Given the description of an element on the screen output the (x, y) to click on. 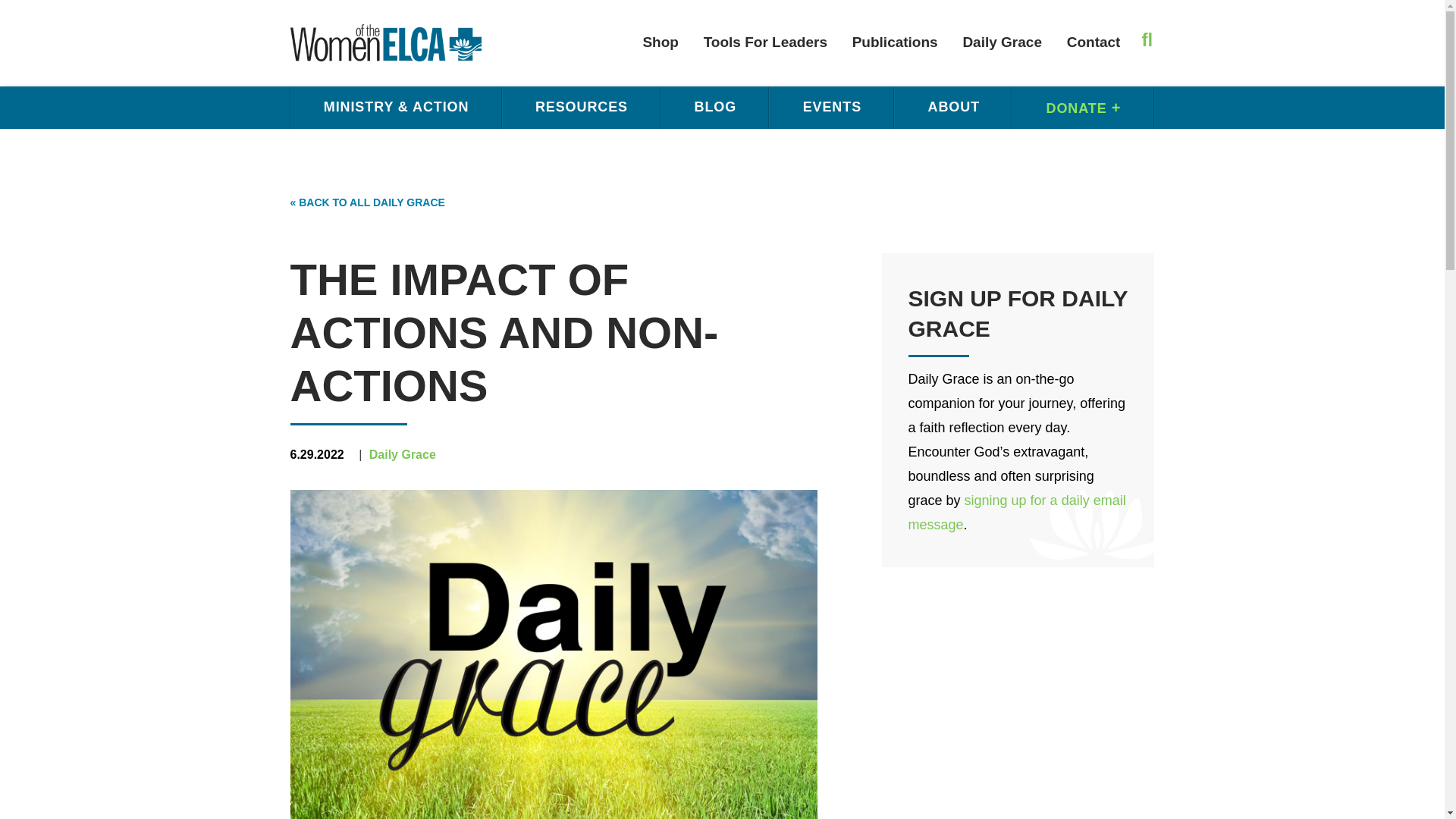
Publications (895, 42)
Daily Grace (1002, 42)
RESOURCES (581, 106)
EVENTS (831, 106)
ABOUT (953, 106)
Shop (659, 42)
Tools For Leaders (765, 42)
BLOG (714, 106)
Contact (1094, 42)
OPEN SEARCH (1142, 39)
